Given the description of an element on the screen output the (x, y) to click on. 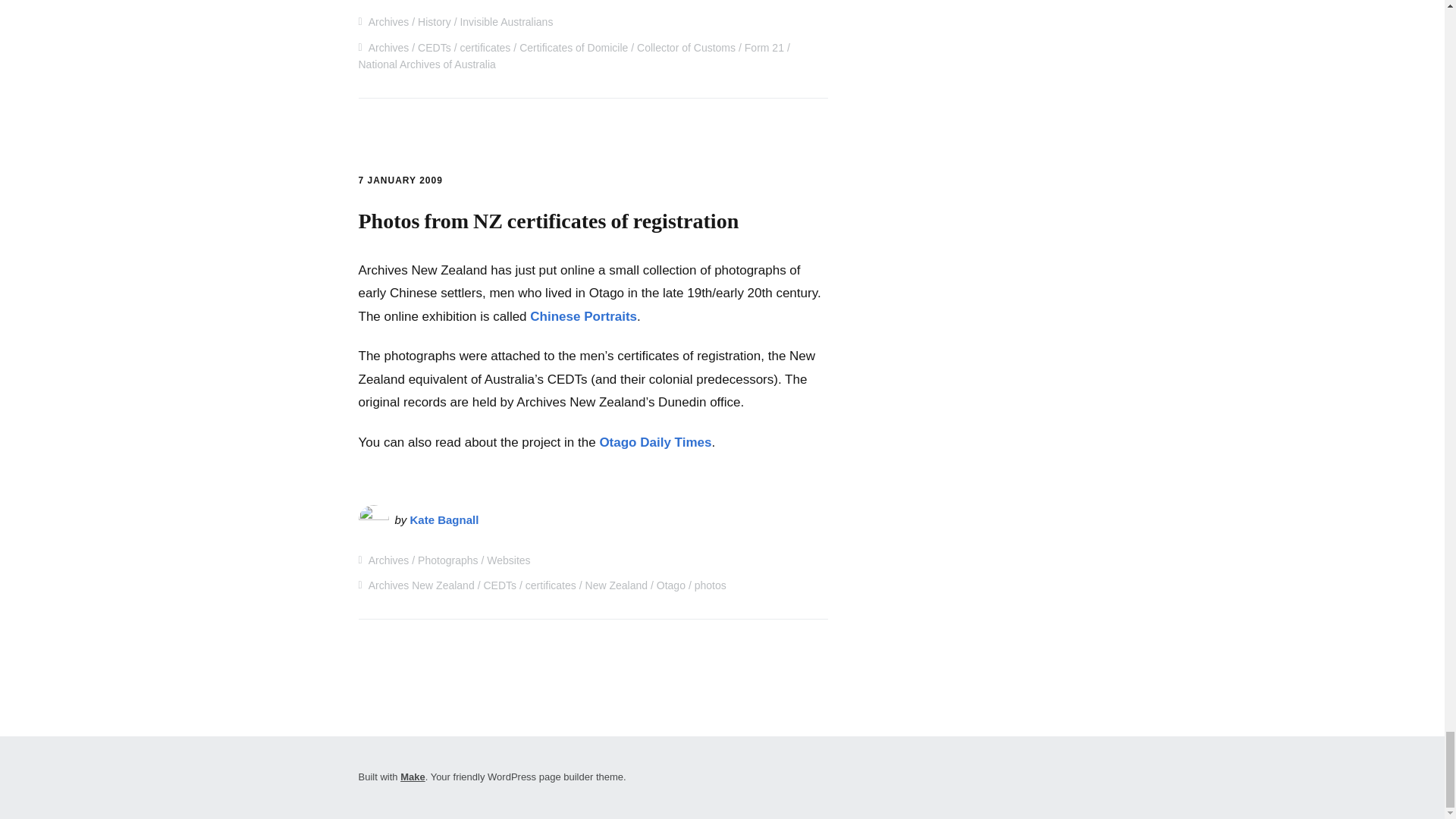
National Archives of Australia (426, 64)
Collector of Customs (686, 47)
certificates (485, 47)
CEDTs (434, 47)
Archives New Zealand: Chinese Portraits (583, 316)
History (434, 21)
Kate Bagnall (444, 519)
Archives (388, 21)
Chinese Portraits (583, 316)
Archives (388, 47)
Form 21 (764, 47)
Otago Daily Times (654, 441)
Invisible Australians (506, 21)
Certificates of Domicile (573, 47)
Otago Daily Times (654, 441)
